Given the description of an element on the screen output the (x, y) to click on. 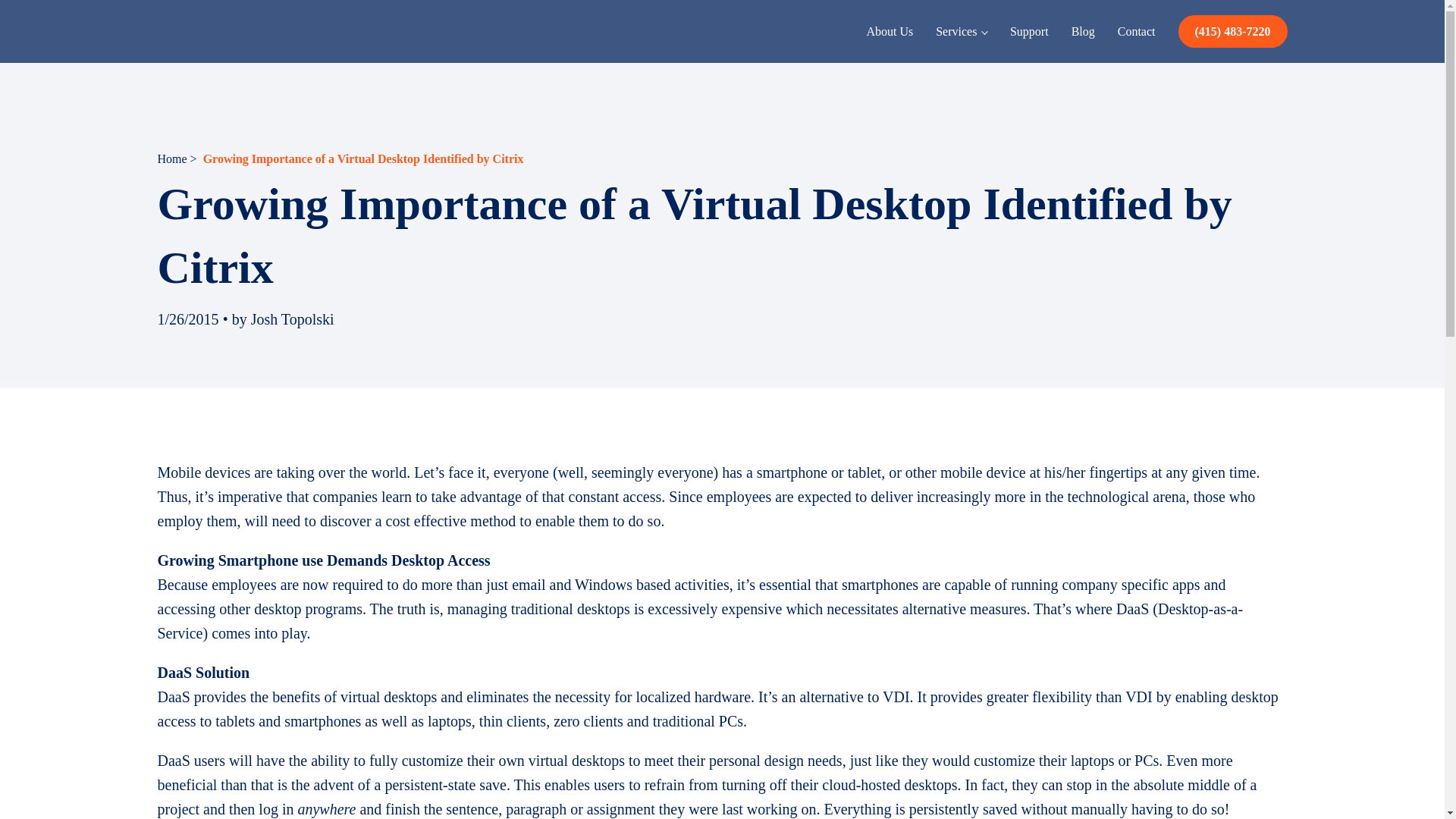
Blog (1083, 31)
Support (1030, 31)
About Us (889, 31)
Services (961, 31)
Contact (1136, 31)
Breadcrumb link to Home (176, 158)
